Given the description of an element on the screen output the (x, y) to click on. 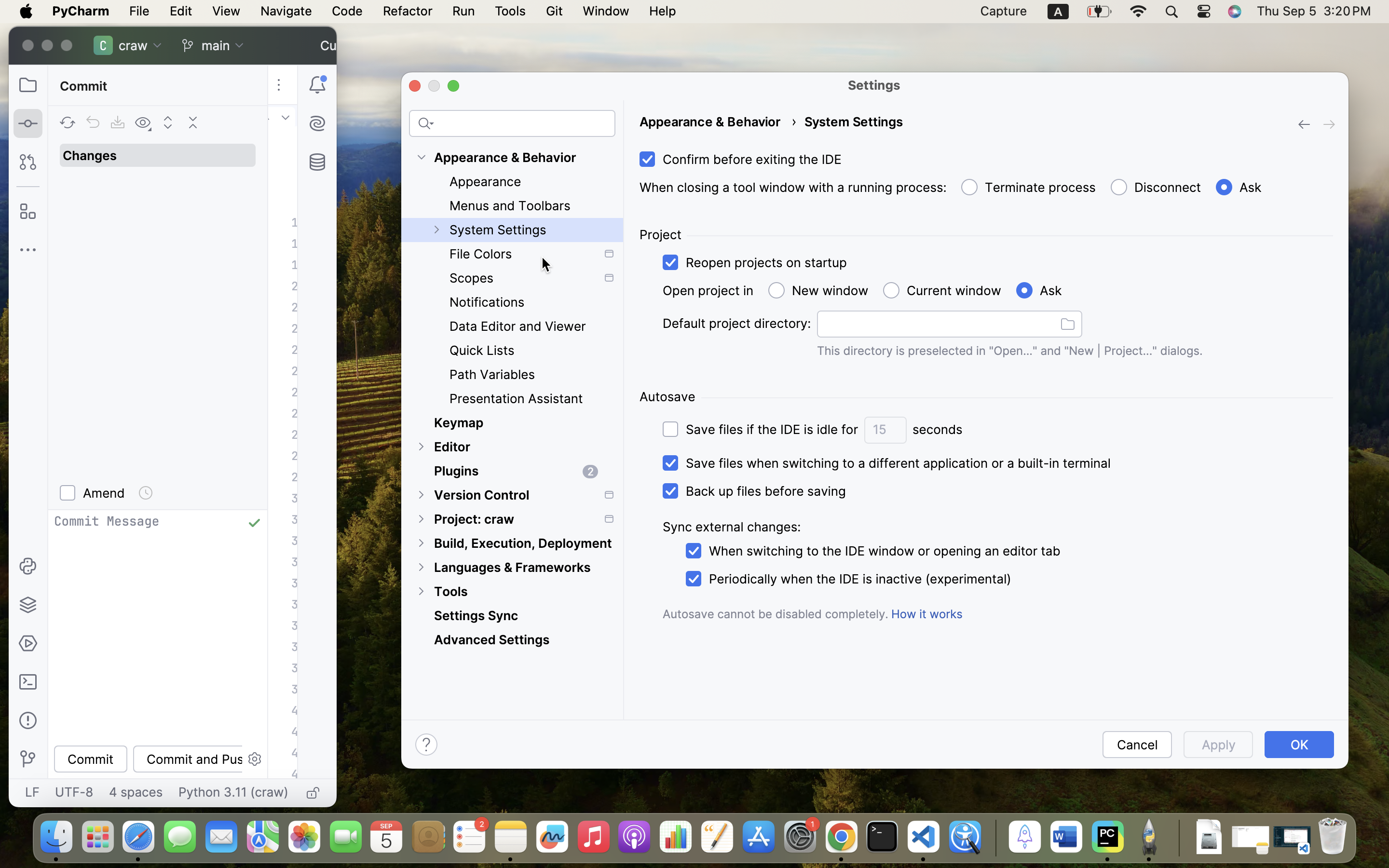
0.4285714328289032 Element type: AXDockItem (993, 837)
Sync external changes: Element type: AXStaticText (731, 526)
Project Element type: AXStaticText (659, 234)
seconds Element type: AXStaticText (937, 429)
15 Element type: AXTextField (885, 429)
